Given the description of an element on the screen output the (x, y) to click on. 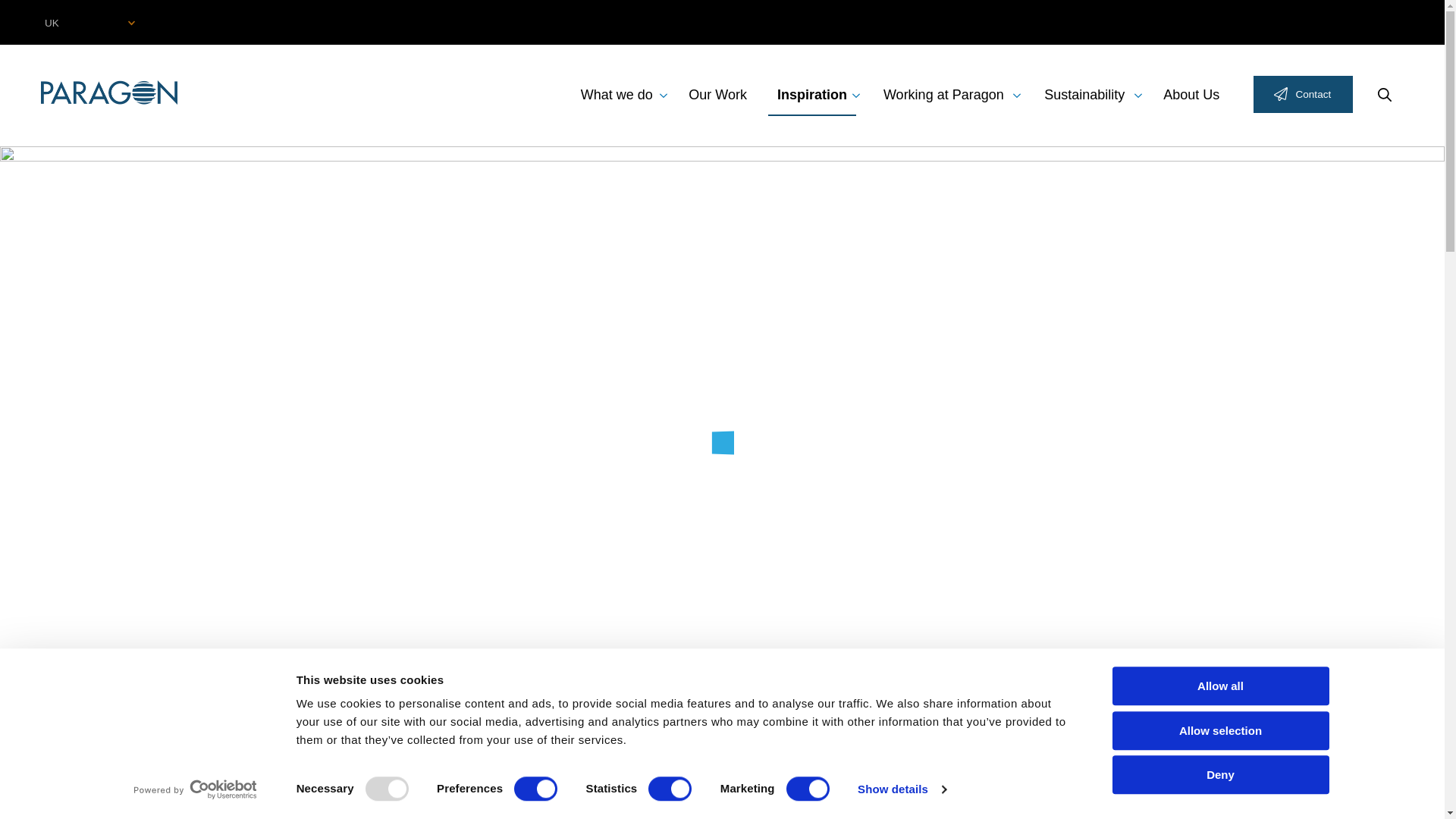
Show details (900, 789)
What we do (616, 96)
